Given the description of an element on the screen output the (x, y) to click on. 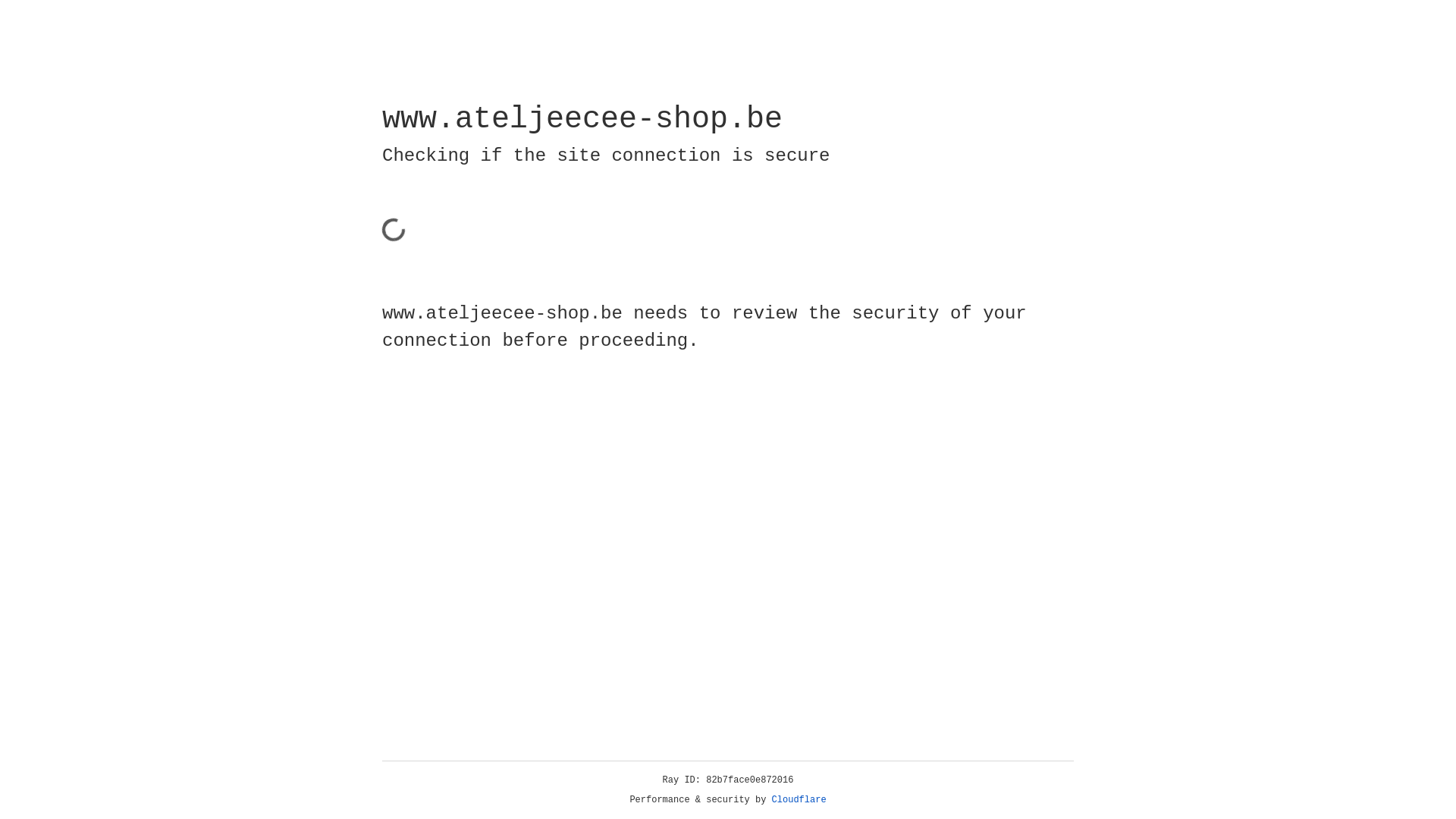
Cloudflare Element type: text (798, 799)
